Given the description of an element on the screen output the (x, y) to click on. 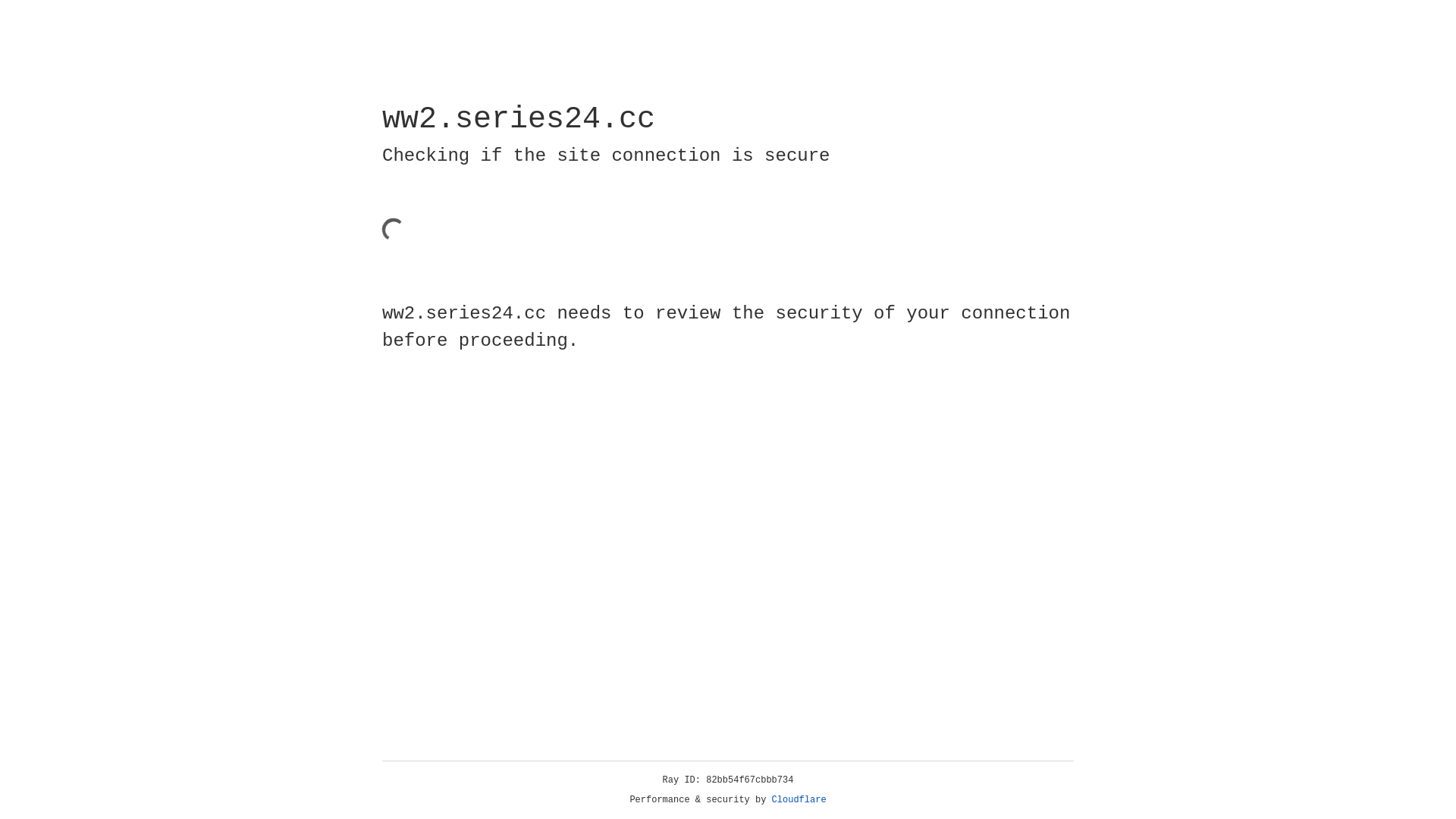
Cloudflare Element type: text (798, 799)
